Given the description of an element on the screen output the (x, y) to click on. 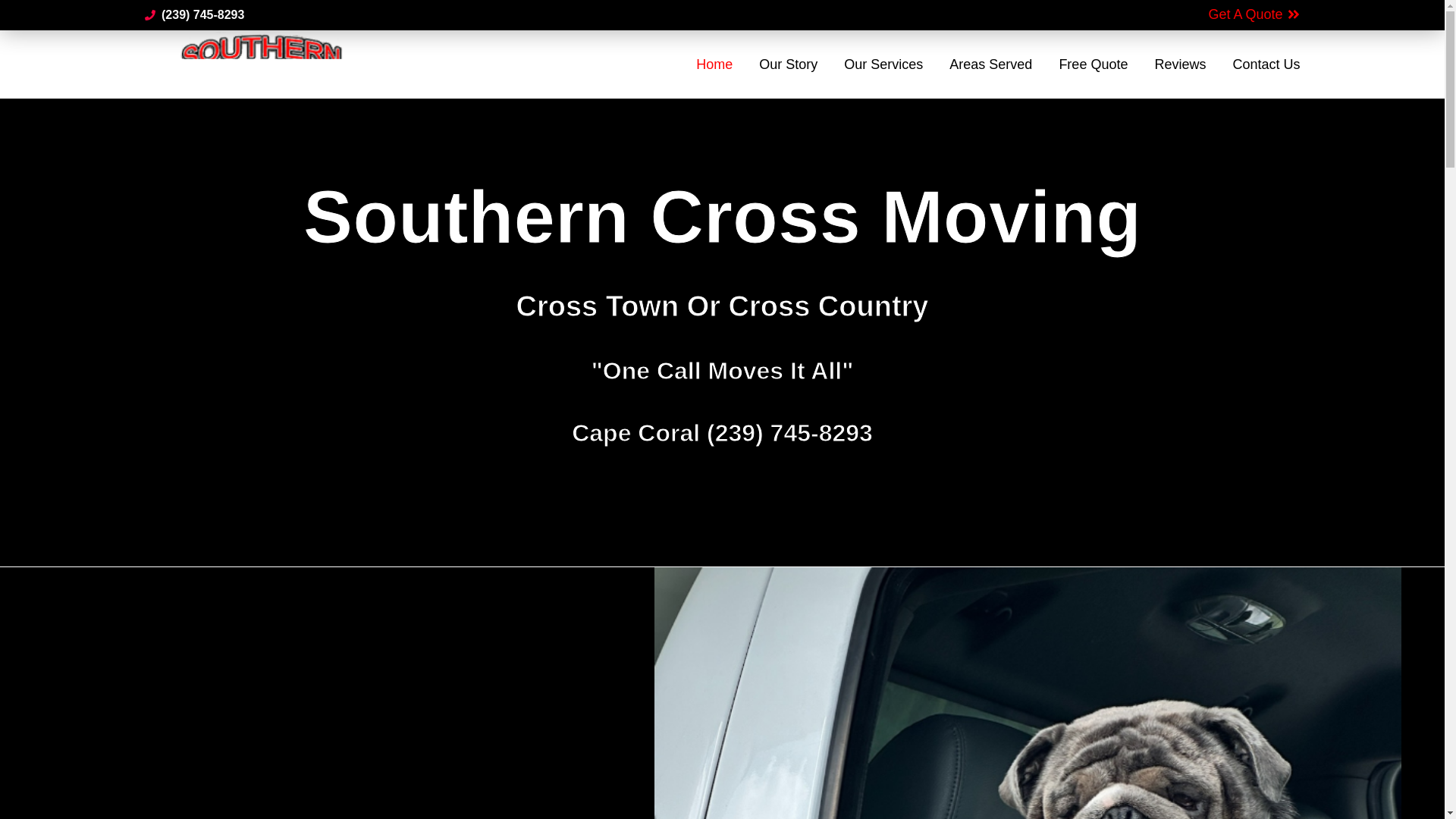
Home (713, 63)
Our Story (787, 63)
Free Quote (1092, 63)
Our Services (883, 63)
Contact Us (1265, 63)
Areas Served (990, 63)
Get A Quote (1254, 15)
Reviews (1179, 63)
